Given the description of an element on the screen output the (x, y) to click on. 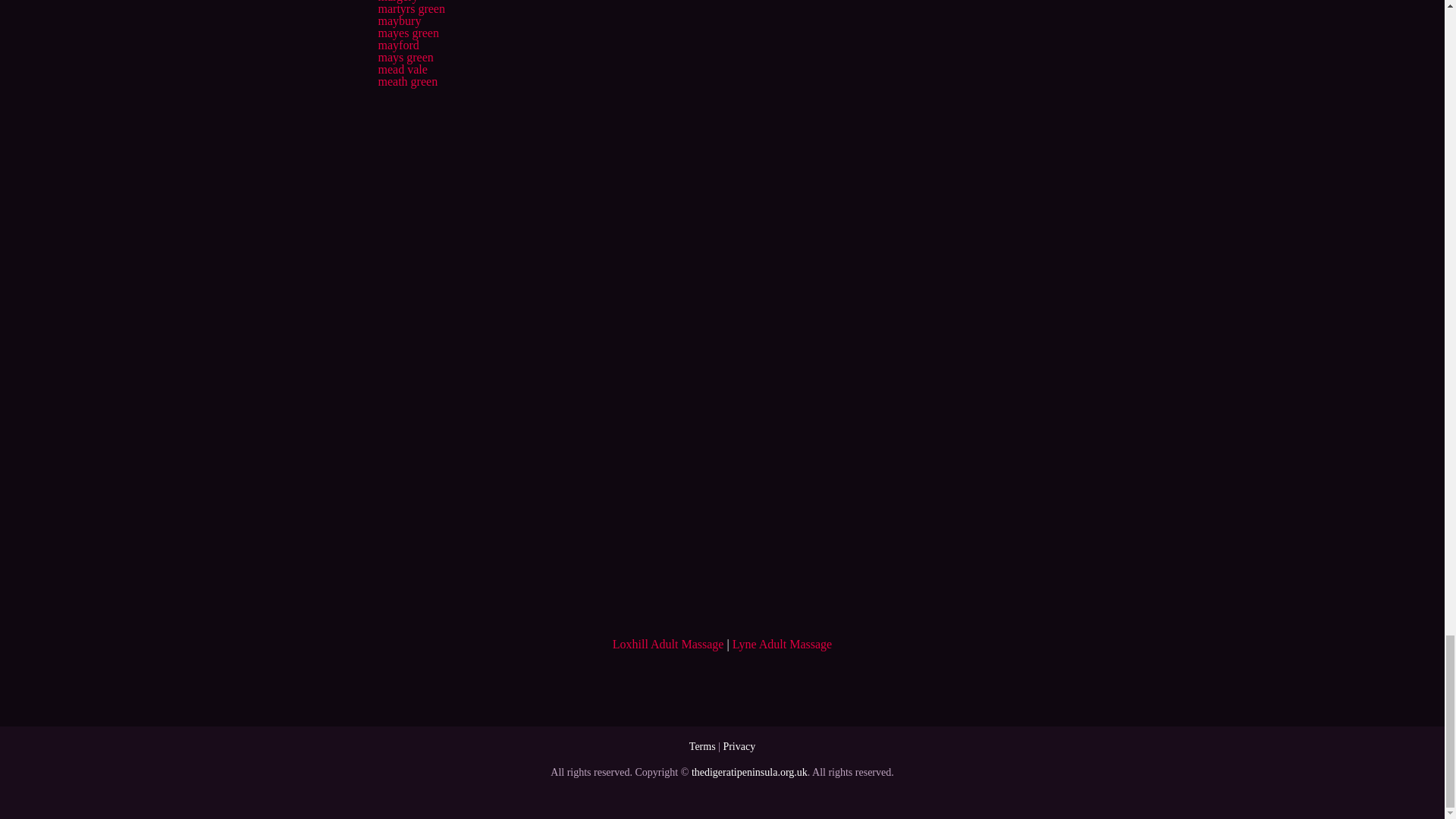
Lyne Adult Massage (782, 644)
mayes green (407, 32)
Privacy (738, 746)
thedigeratipeninsula.org.uk (749, 772)
mead vale (401, 69)
Loxhill Adult Massage (667, 644)
Privacy (738, 746)
martyrs green (410, 8)
Terms (702, 746)
maybury (398, 20)
